Given the description of an element on the screen output the (x, y) to click on. 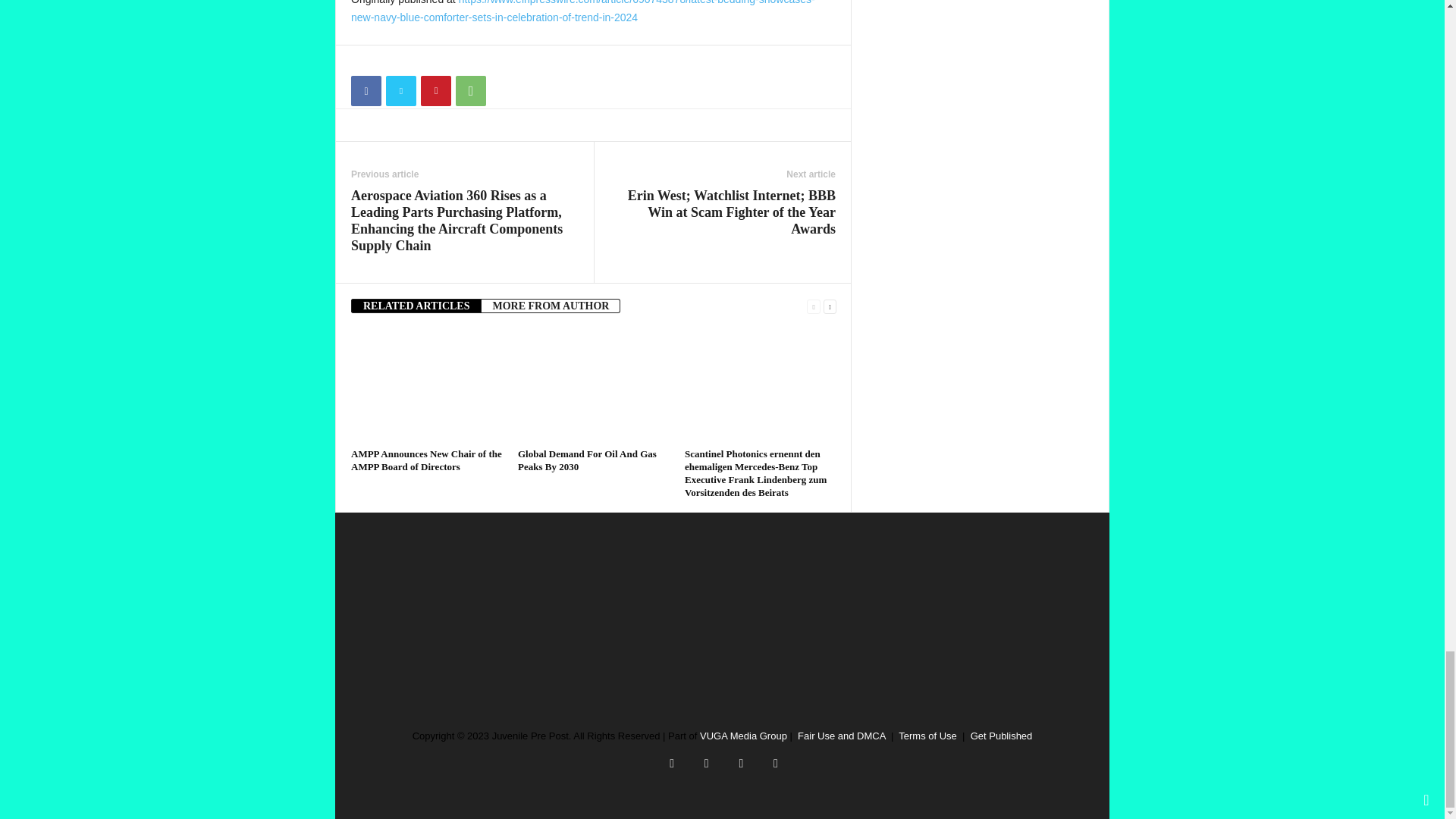
Facebook (365, 91)
